Given the description of an element on the screen output the (x, y) to click on. 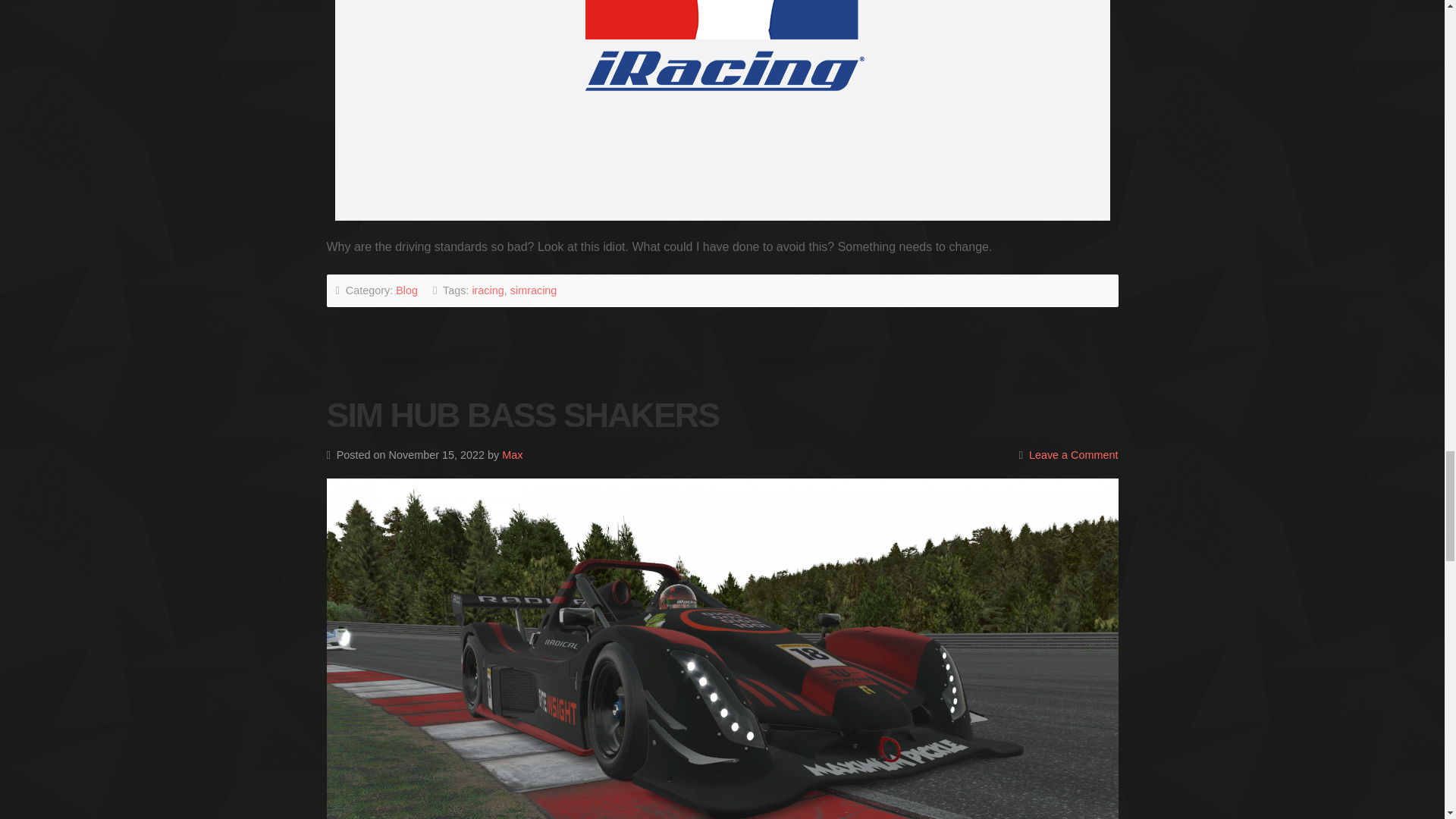
Posts by Max (512, 454)
